Given the description of an element on the screen output the (x, y) to click on. 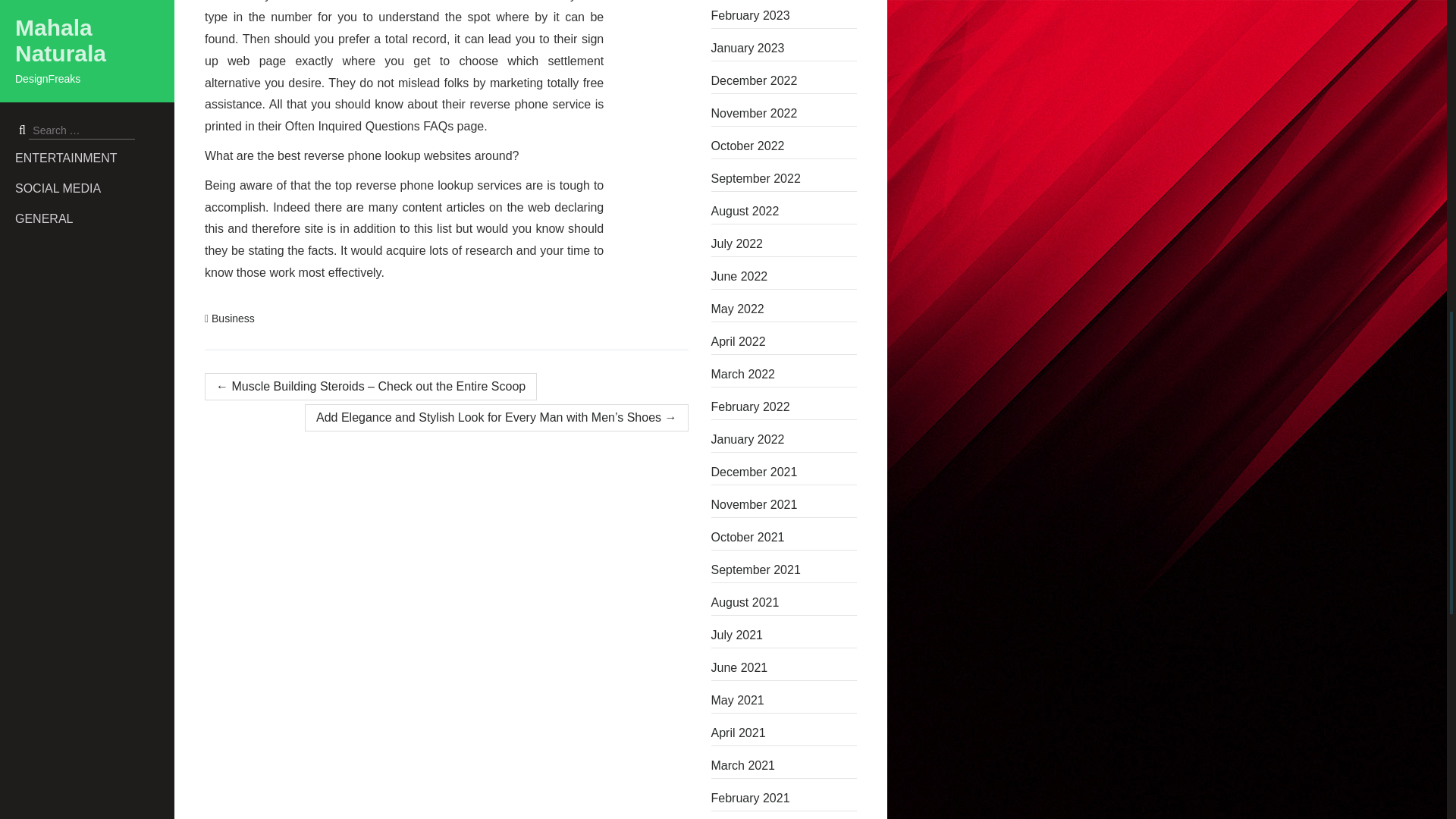
July 2022 (784, 243)
August 2022 (784, 211)
December 2022 (784, 80)
November 2022 (784, 113)
May 2022 (784, 309)
June 2022 (784, 276)
September 2022 (784, 178)
January 2023 (784, 48)
Business (232, 318)
February 2023 (784, 15)
October 2022 (784, 146)
